Given the description of an element on the screen output the (x, y) to click on. 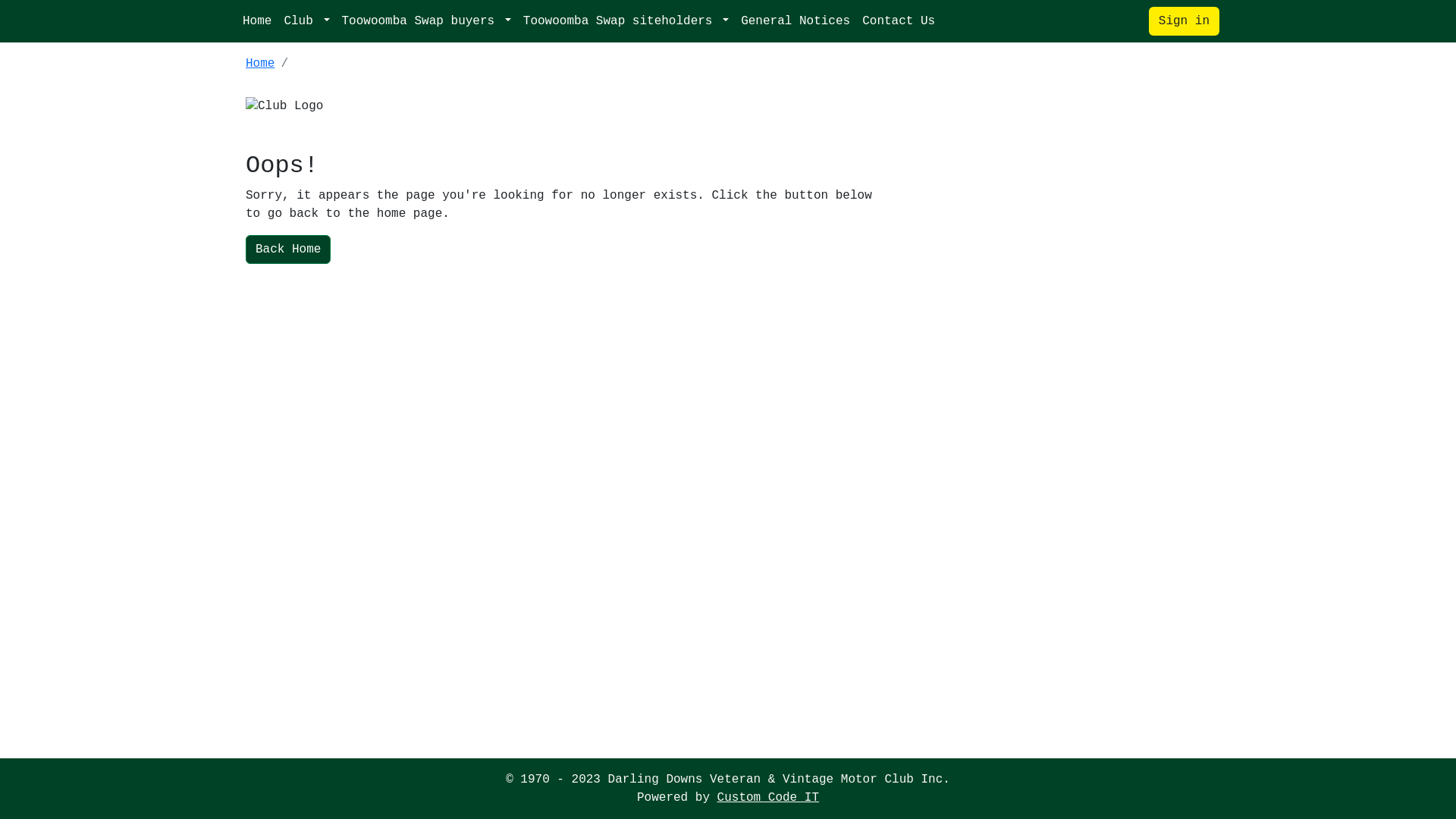
Toowoomba Swap siteholders Element type: text (625, 21)
General Notices Element type: text (795, 21)
Back Home Element type: text (287, 249)
Club Element type: text (306, 21)
Contact Us Element type: text (898, 21)
Toowoomba Swap buyers Element type: text (425, 21)
Sign in Element type: text (1183, 20)
Home Element type: text (259, 63)
Home Element type: text (256, 21)
Custom Code IT Element type: text (768, 797)
